Given the description of an element on the screen output the (x, y) to click on. 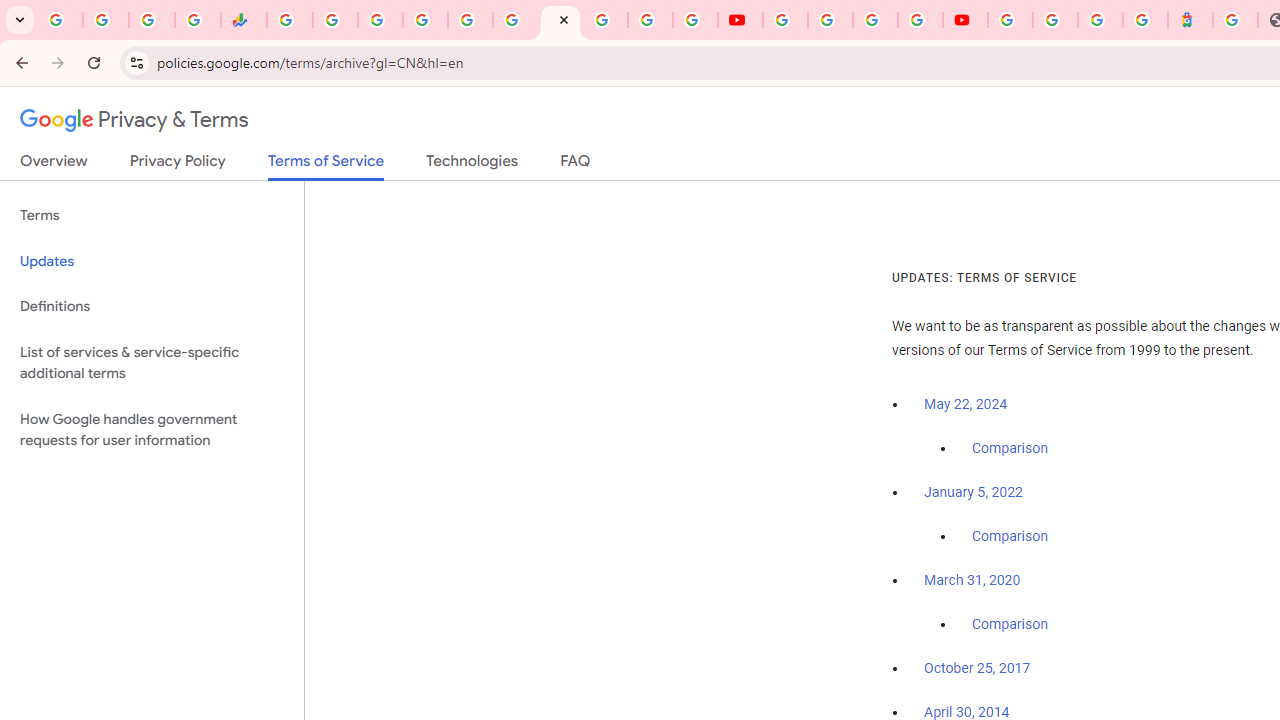
Content Creator Programs & Opportunities - YouTube Creators (965, 20)
May 22, 2024 (966, 404)
Terms (152, 215)
Definitions (152, 306)
Google Account Help (829, 20)
January 5, 2022 (973, 492)
Comparison (1009, 625)
List of services & service-specific additional terms (152, 362)
Technologies (472, 165)
Atour Hotel - Google hotels (1190, 20)
